Given the description of an element on the screen output the (x, y) to click on. 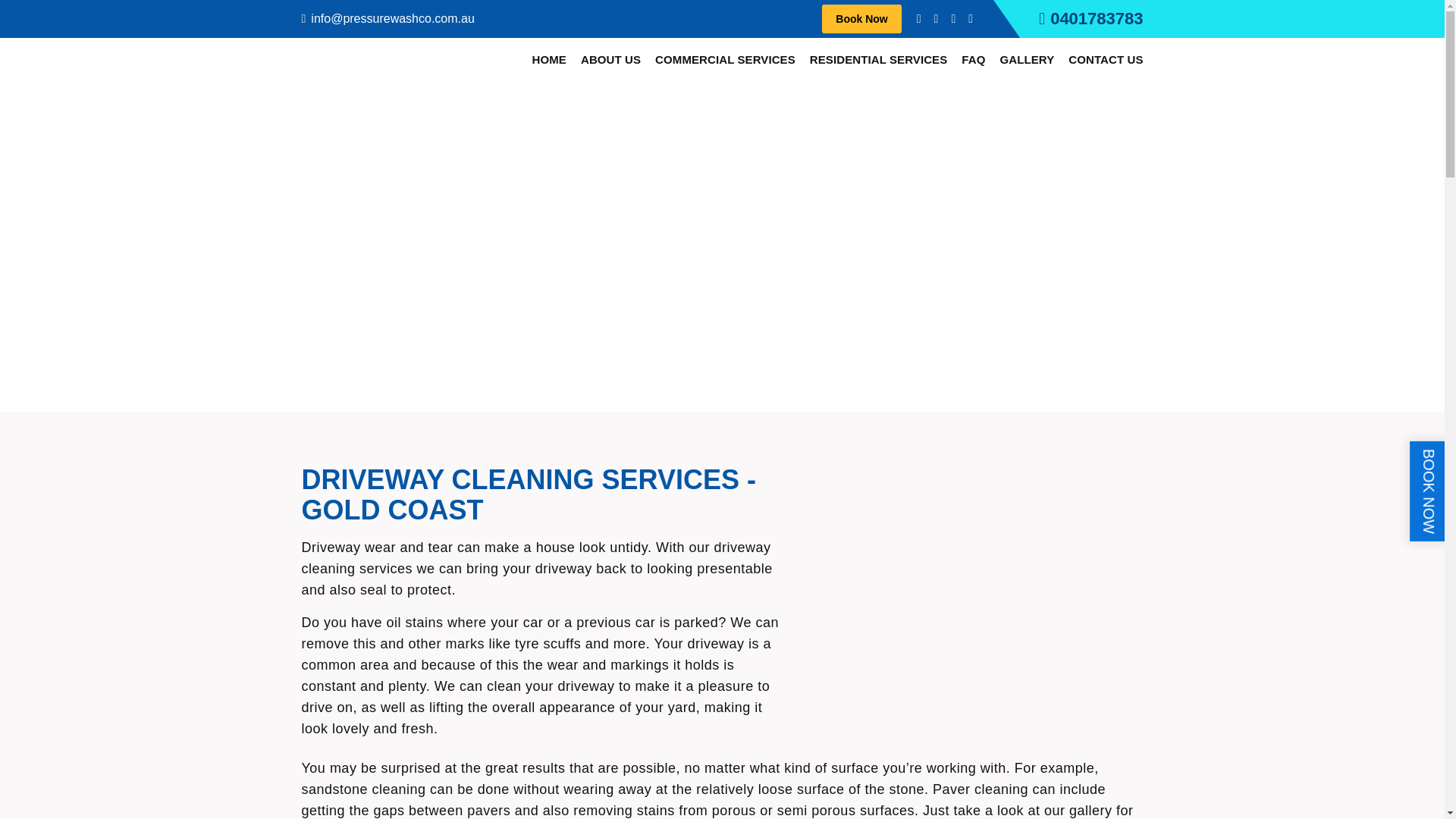
CONTACT US (1105, 59)
COMMERCIAL SERVICES (724, 59)
HOME (549, 59)
0401783783 (1090, 18)
GALLERY (1026, 59)
RESIDENTIAL SERVICES (878, 59)
FAQ (972, 59)
ABOUT US (610, 59)
Book Now (861, 18)
